Given the description of an element on the screen output the (x, y) to click on. 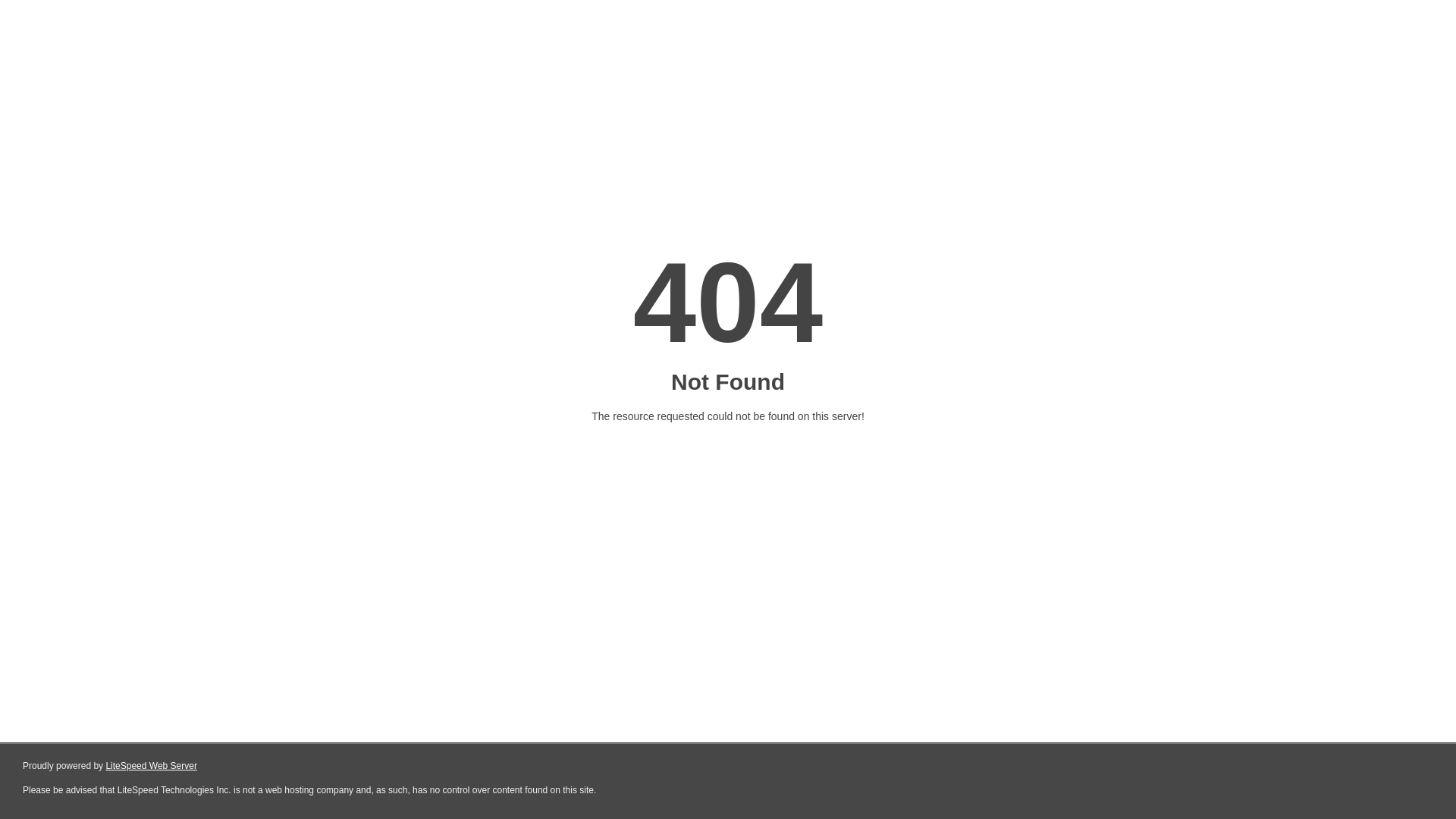
LiteSpeed Web Server Element type: text (151, 765)
